Given the description of an element on the screen output the (x, y) to click on. 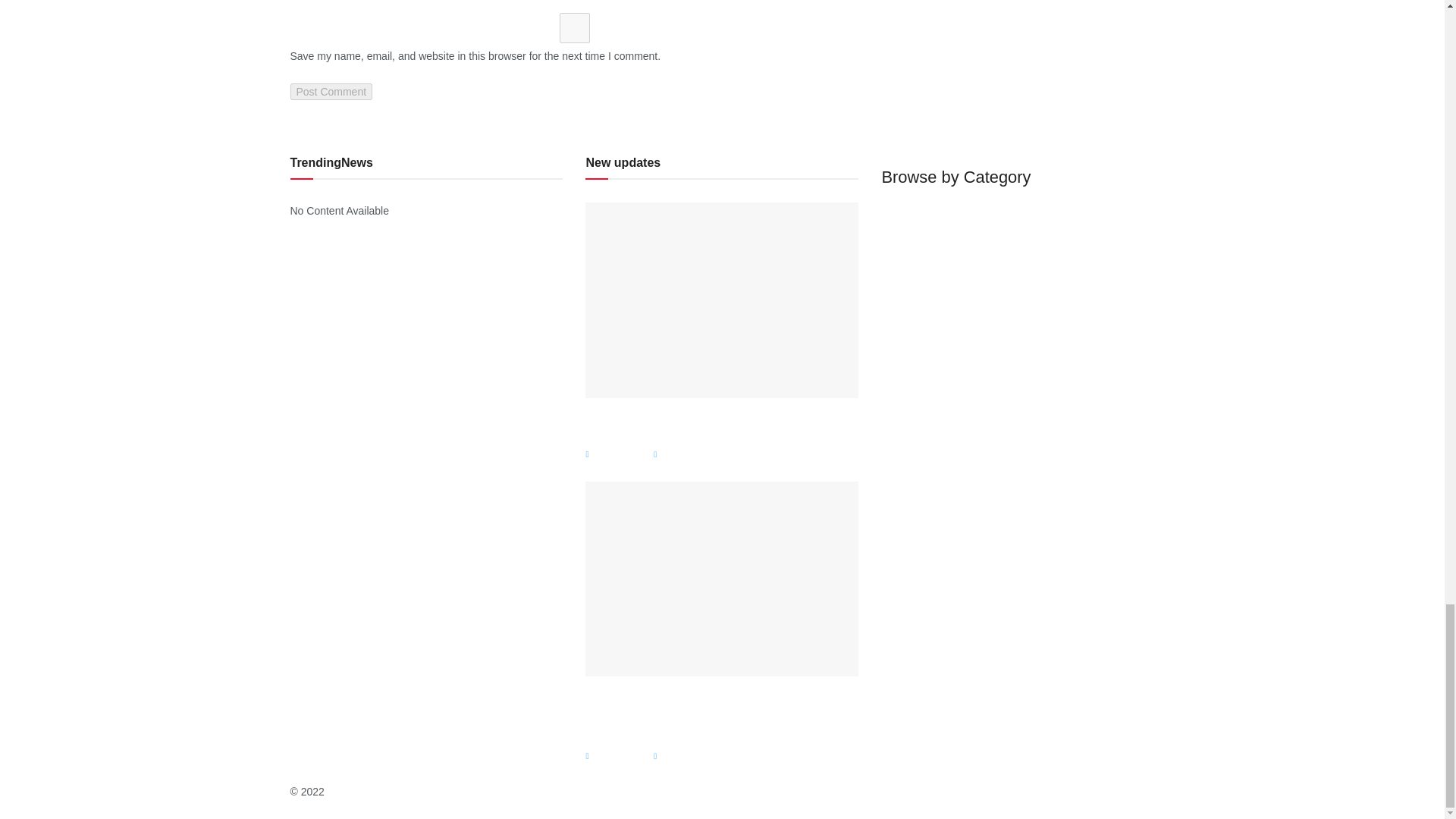
Post Comment (330, 91)
www.conservativeguard.com (395, 791)
yes (574, 28)
